Given the description of an element on the screen output the (x, y) to click on. 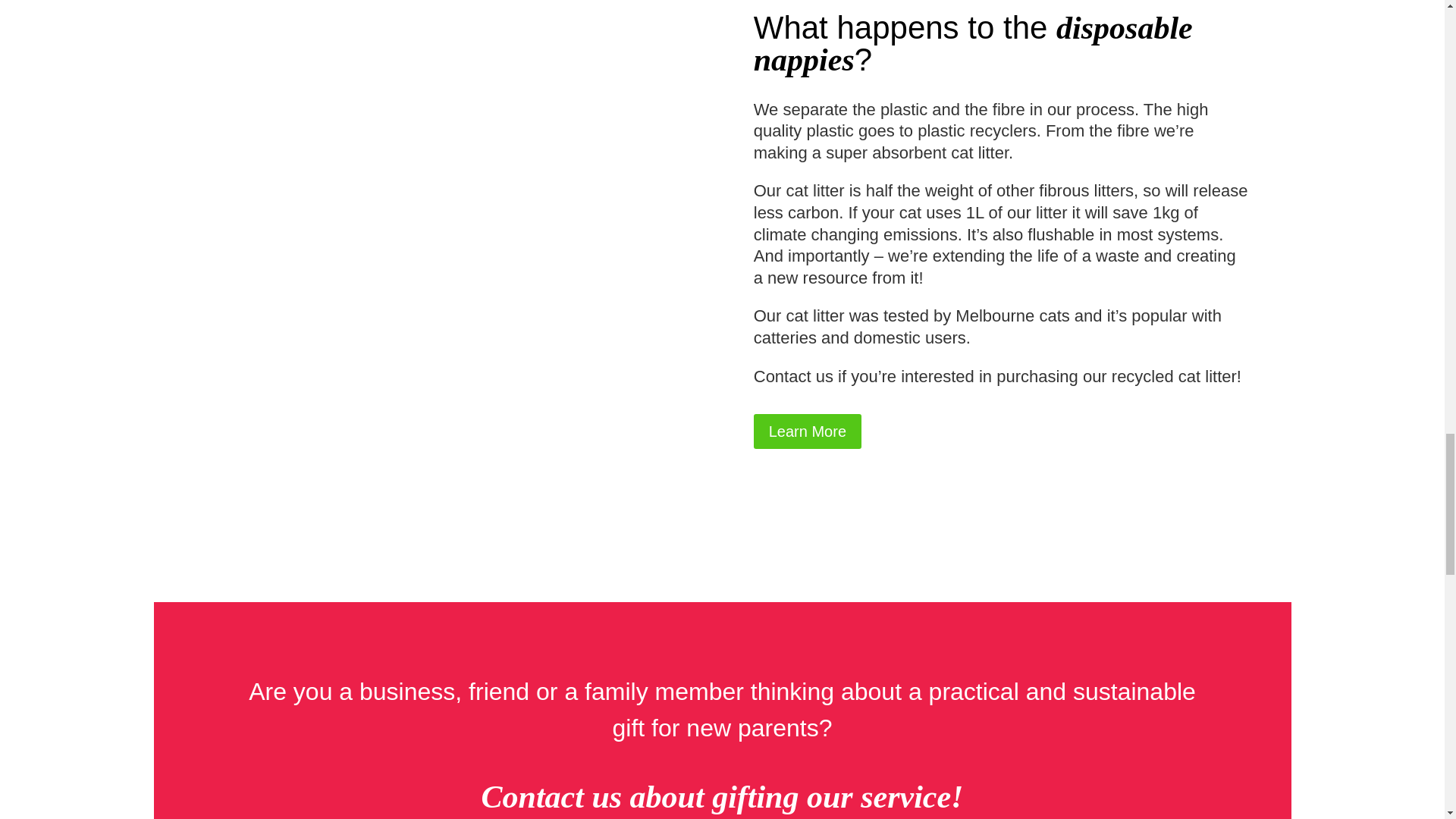
Contact us about gifting our service! (722, 796)
Learn More (807, 431)
Contact us (793, 375)
cat litter (815, 315)
